Given the description of an element on the screen output the (x, y) to click on. 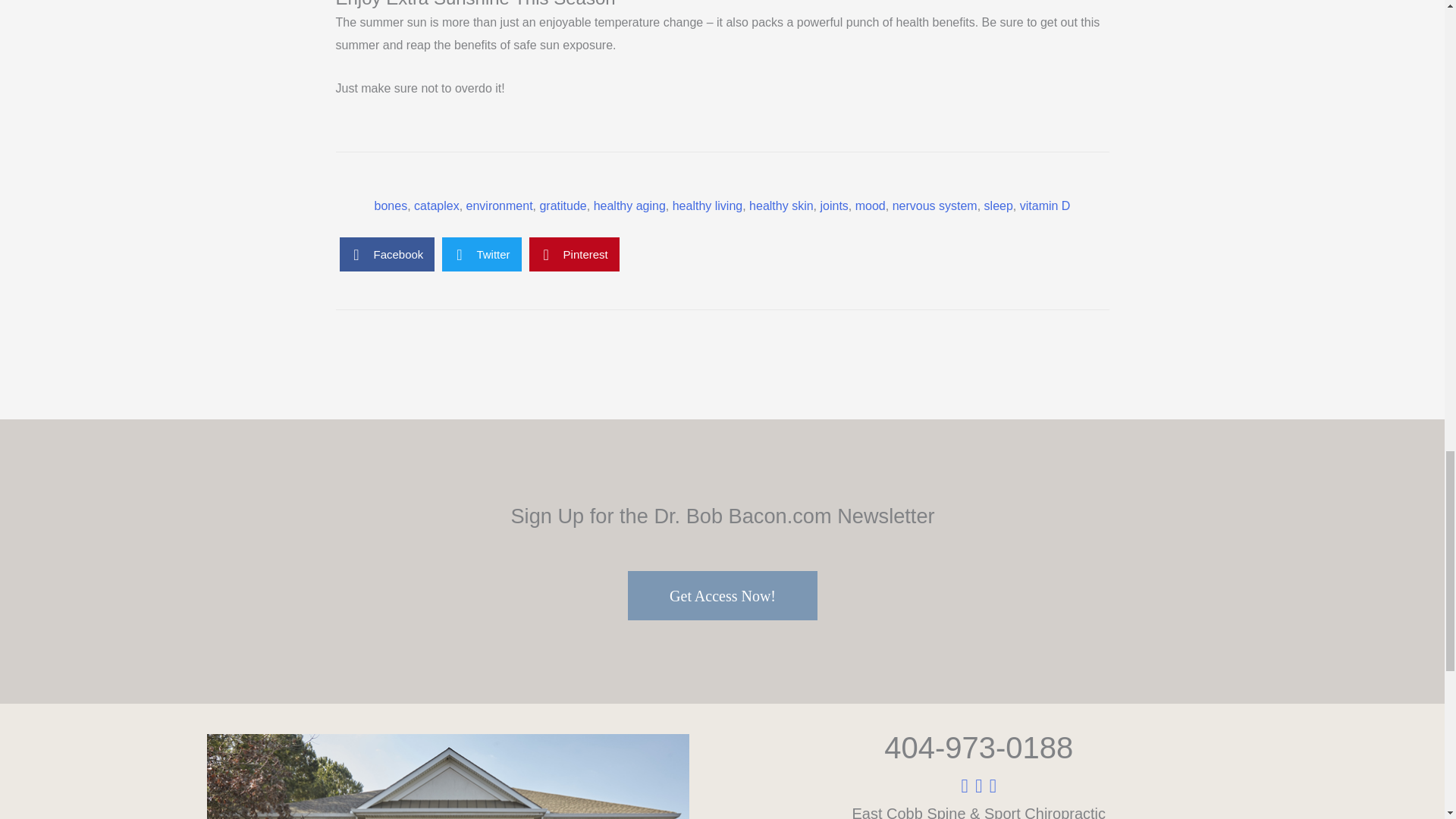
building-photo (447, 776)
